Given the description of an element on the screen output the (x, y) to click on. 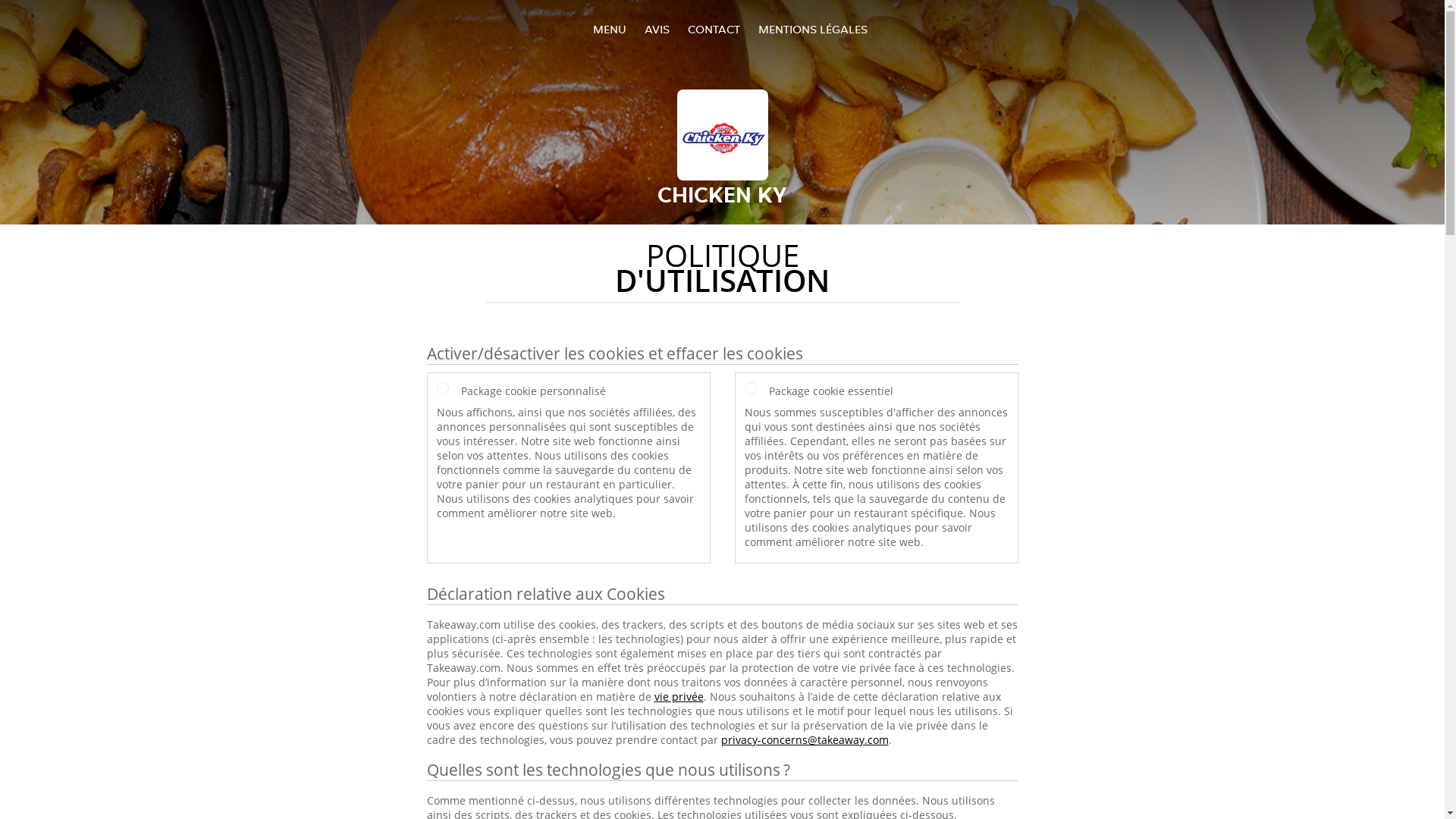
MENU Element type: text (609, 29)
AVIS Element type: text (656, 29)
privacy-concerns@takeaway.com Element type: text (804, 739)
CONTACT Element type: text (713, 29)
